Given the description of an element on the screen output the (x, y) to click on. 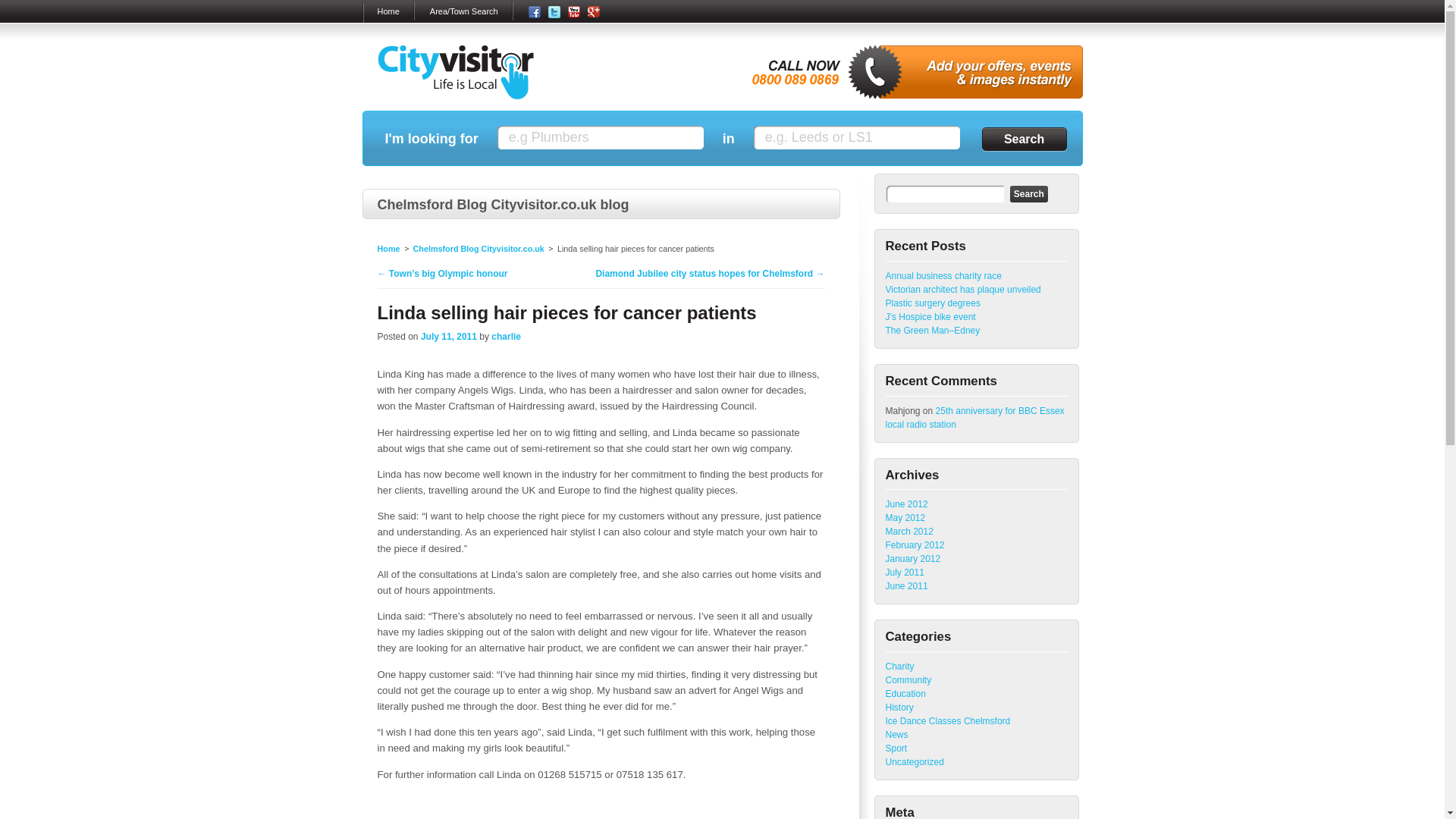
charlie (506, 336)
Charity (899, 665)
25th anniversary for BBC Essex local radio station (974, 417)
e.g. Leeds or LS1 (856, 137)
Chelmsford Blog Cityvisitor.co.uk (477, 248)
Victorian architect has plaque unveiled (963, 289)
February 2012 (914, 544)
View all posts by charlie (506, 336)
Home (388, 248)
Search (1024, 139)
